Given the description of an element on the screen output the (x, y) to click on. 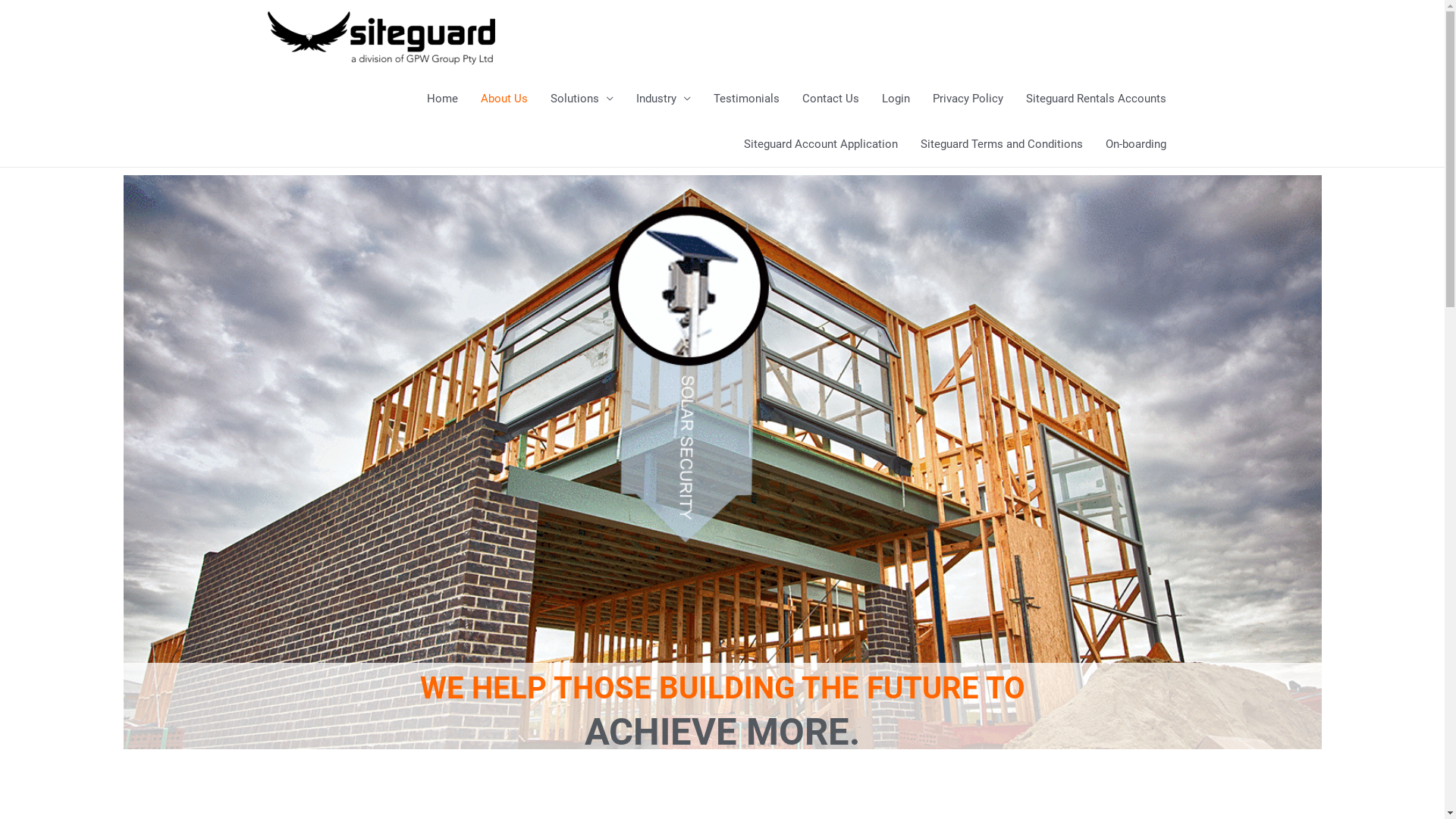
Siteguard Terms and Conditions Element type: text (1000, 143)
Solutions Element type: text (581, 98)
Siteguard Account Application Element type: text (820, 143)
Contact Us Element type: text (829, 98)
Login Element type: text (895, 98)
About Us Element type: text (503, 98)
Home Element type: text (442, 98)
On-boarding Element type: text (1134, 143)
Privacy Policy Element type: text (966, 98)
Testimonials Element type: text (746, 98)
Siteguard Rentals Accounts Element type: text (1095, 98)
Industry Element type: text (663, 98)
